Given the description of an element on the screen output the (x, y) to click on. 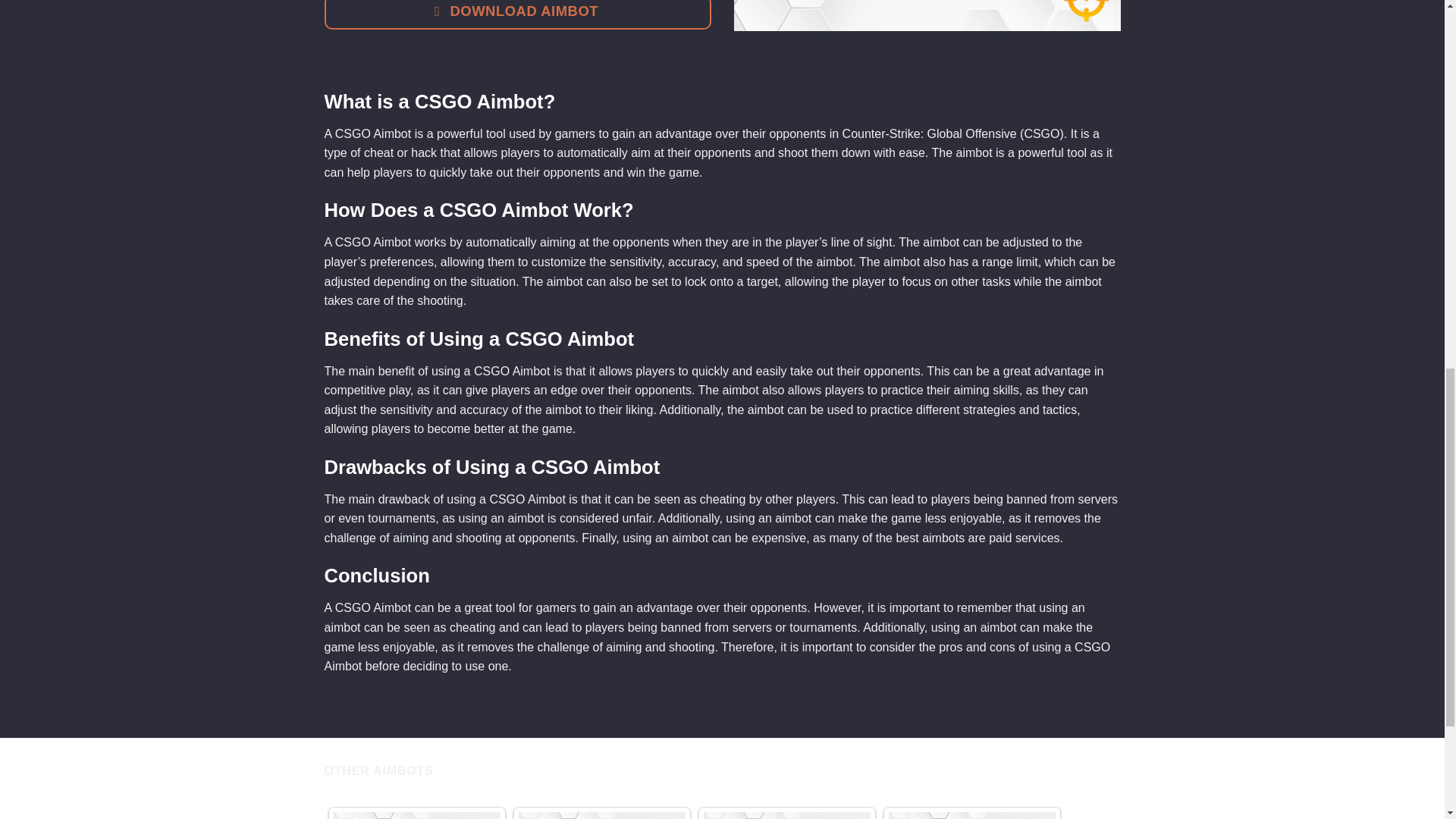
Apex Legends Mobile Aimbot (601, 815)
CSGO Aimbot (927, 15)
Apex Legends Mobile Aimbot (601, 815)
Battlefield 2042 Aimbot (971, 815)
DOWNLOAD AIMBOT (517, 14)
Battlefield 2042 Aimbot (971, 815)
No Scope Arcade Aimbot (416, 815)
No Scope Arcade Aimbot (416, 815)
TF2 Aimbot (786, 815)
TF2 Aimbot (786, 815)
